Given the description of an element on the screen output the (x, y) to click on. 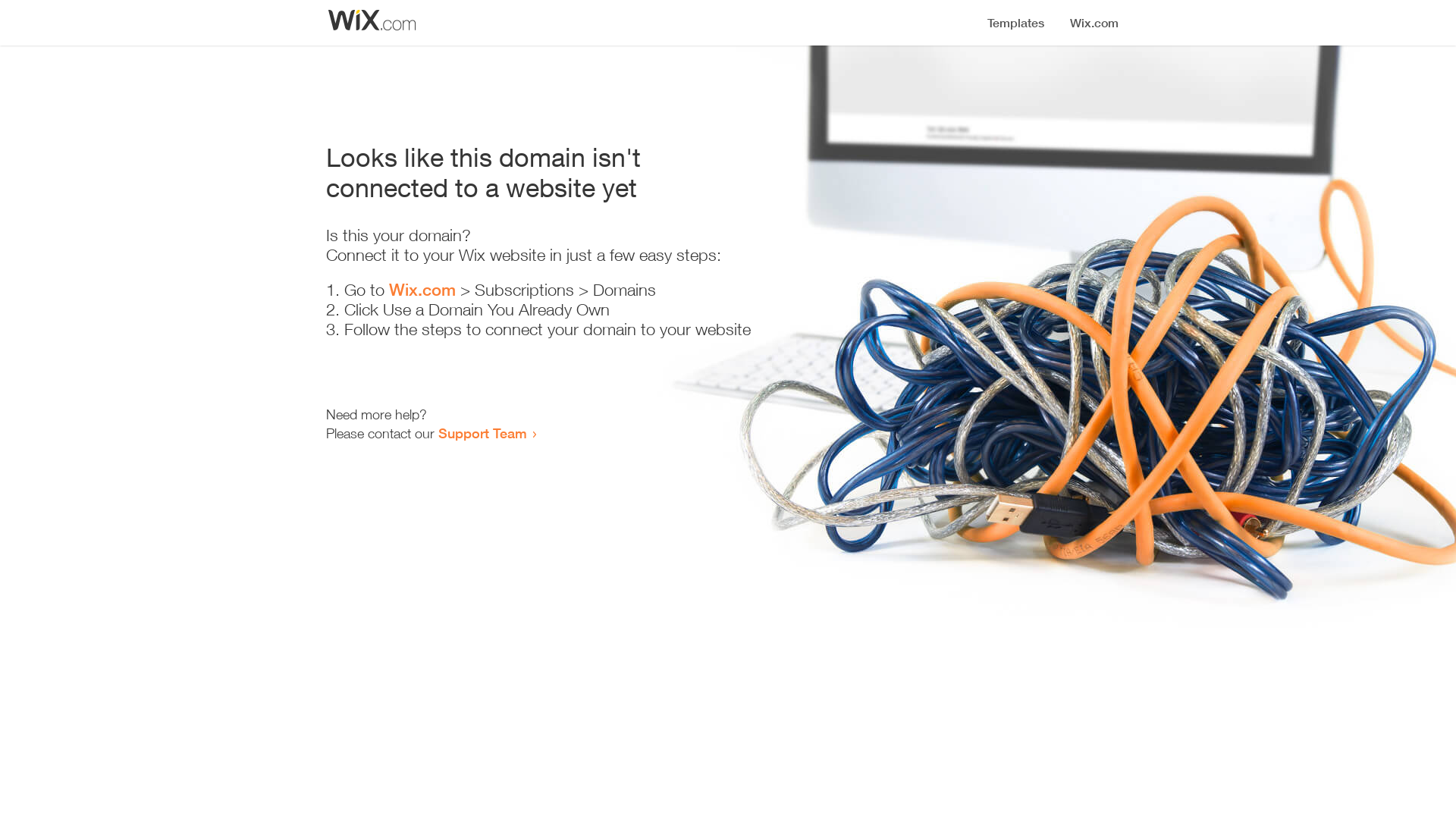
Support Team Element type: text (482, 432)
Wix.com Element type: text (422, 289)
